Given the description of an element on the screen output the (x, y) to click on. 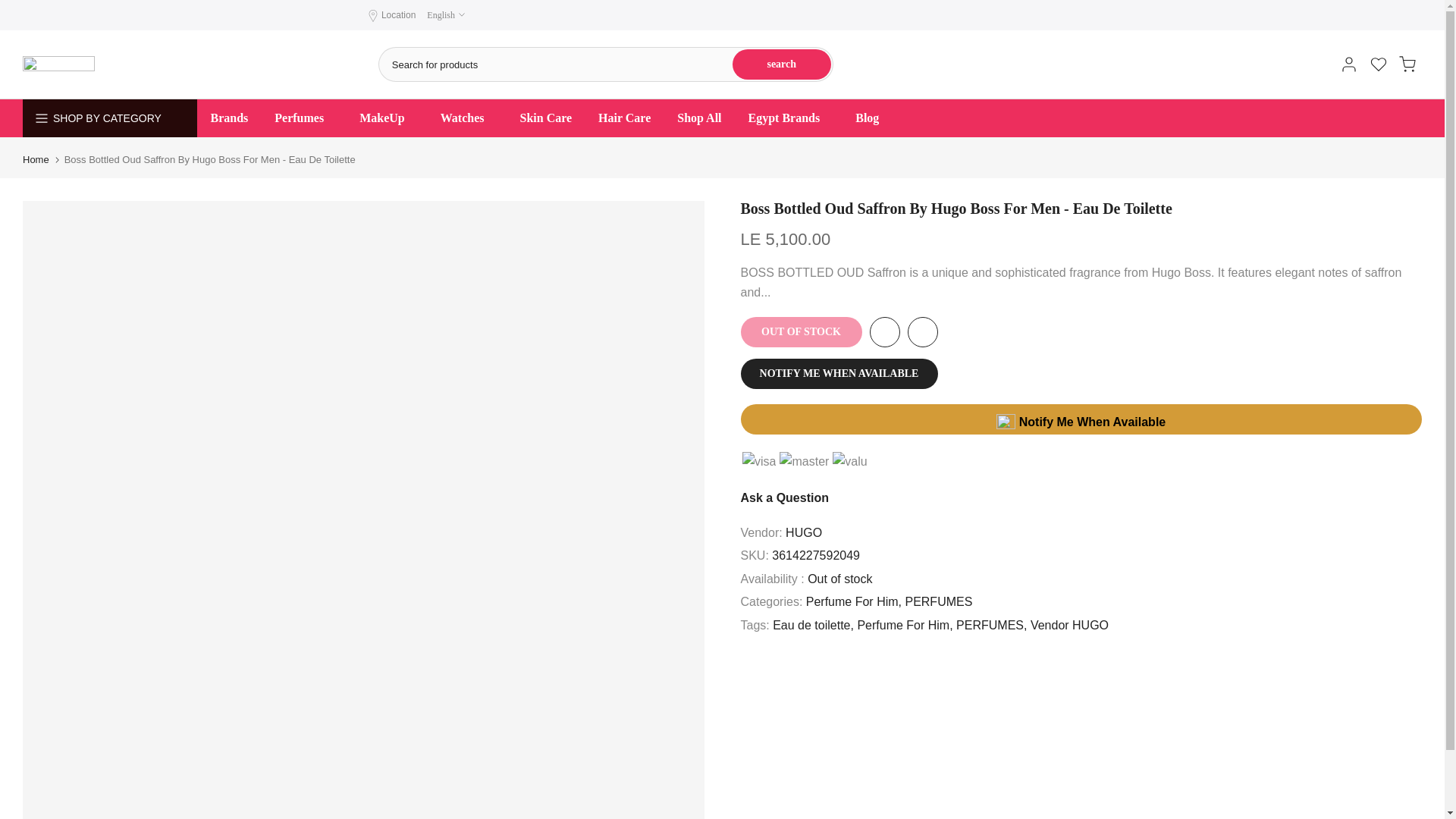
Hair Care (624, 117)
Perfumes (304, 117)
Blog (867, 117)
Shop All (699, 117)
Brands (229, 117)
Notify Me When Available (1080, 419)
Location (397, 14)
Watches (466, 117)
Skin Care (545, 117)
NOTIFY ME WHEN AVAILABLE (838, 373)
